Given the description of an element on the screen output the (x, y) to click on. 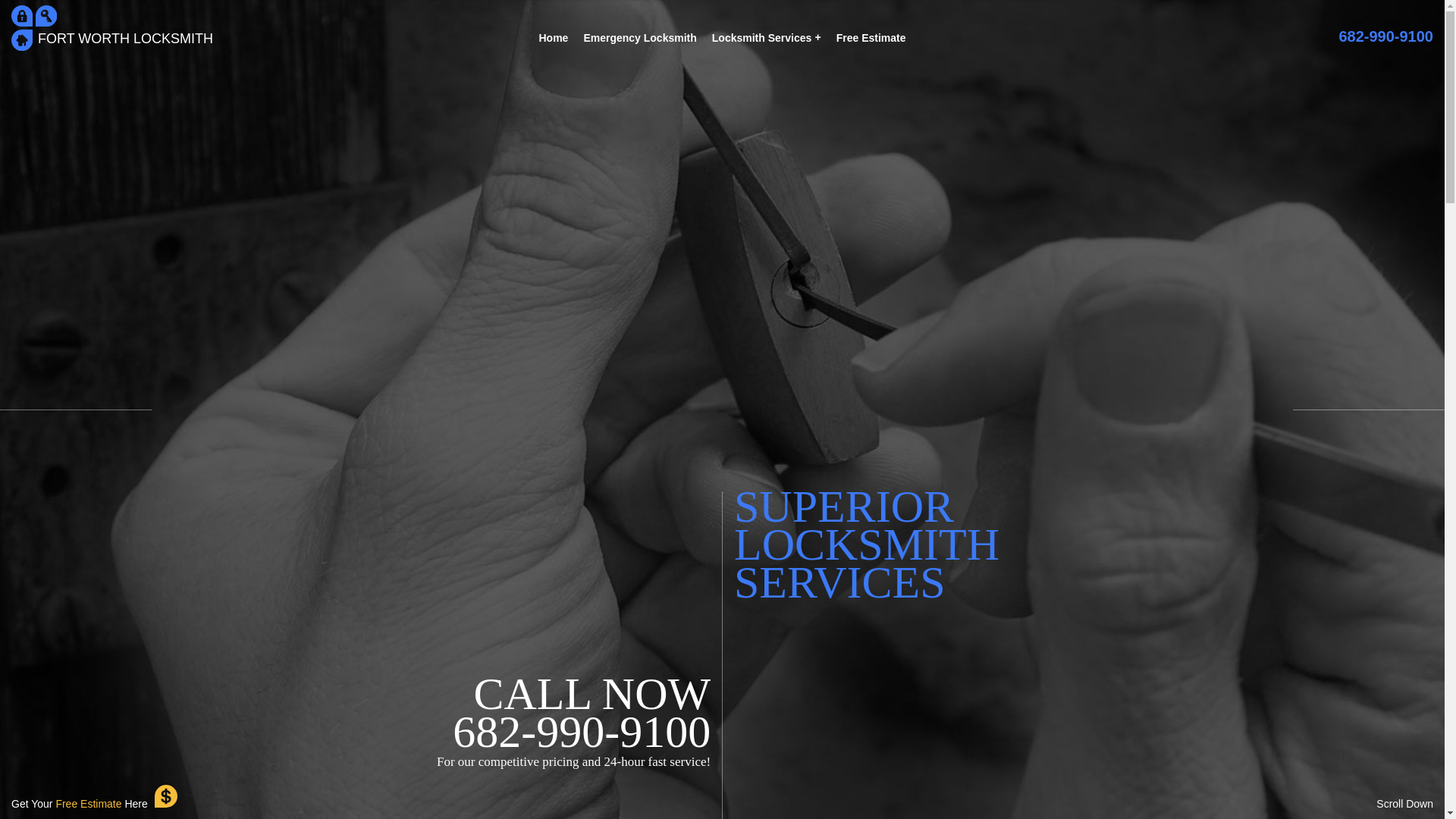
FORT WORTH LOCKSMITH (123, 46)
Scroll Down (1403, 803)
Emergency Locksmith (639, 37)
682-990-9100 (1385, 36)
Free Estimate (871, 37)
Home (553, 37)
